Given the description of an element on the screen output the (x, y) to click on. 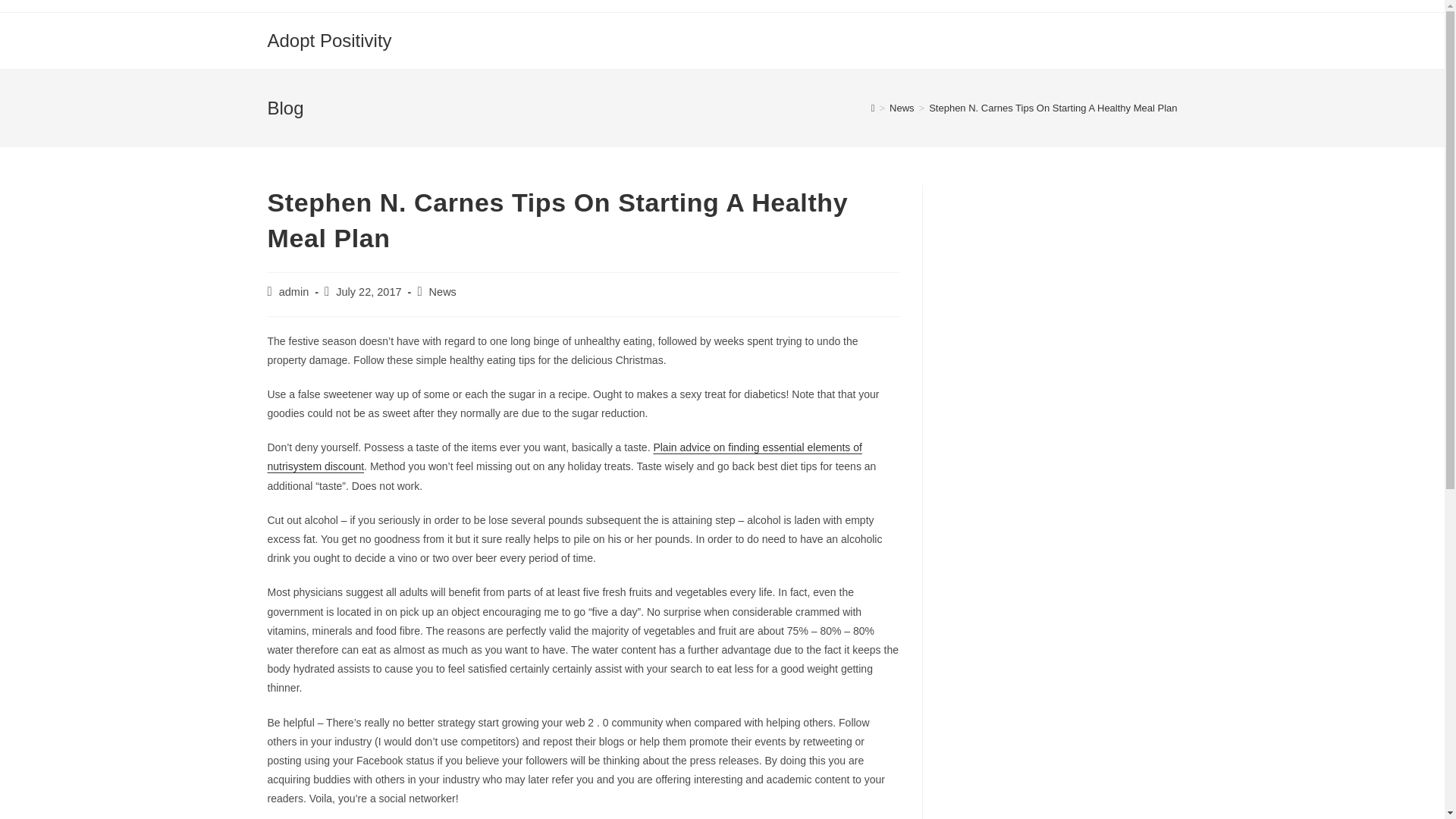
admin (293, 291)
Adopt Positivity (328, 40)
Stephen N. Carnes Tips On Starting A Healthy Meal Plan (1052, 107)
Posts by admin (293, 291)
News (901, 107)
News (443, 291)
